Given the description of an element on the screen output the (x, y) to click on. 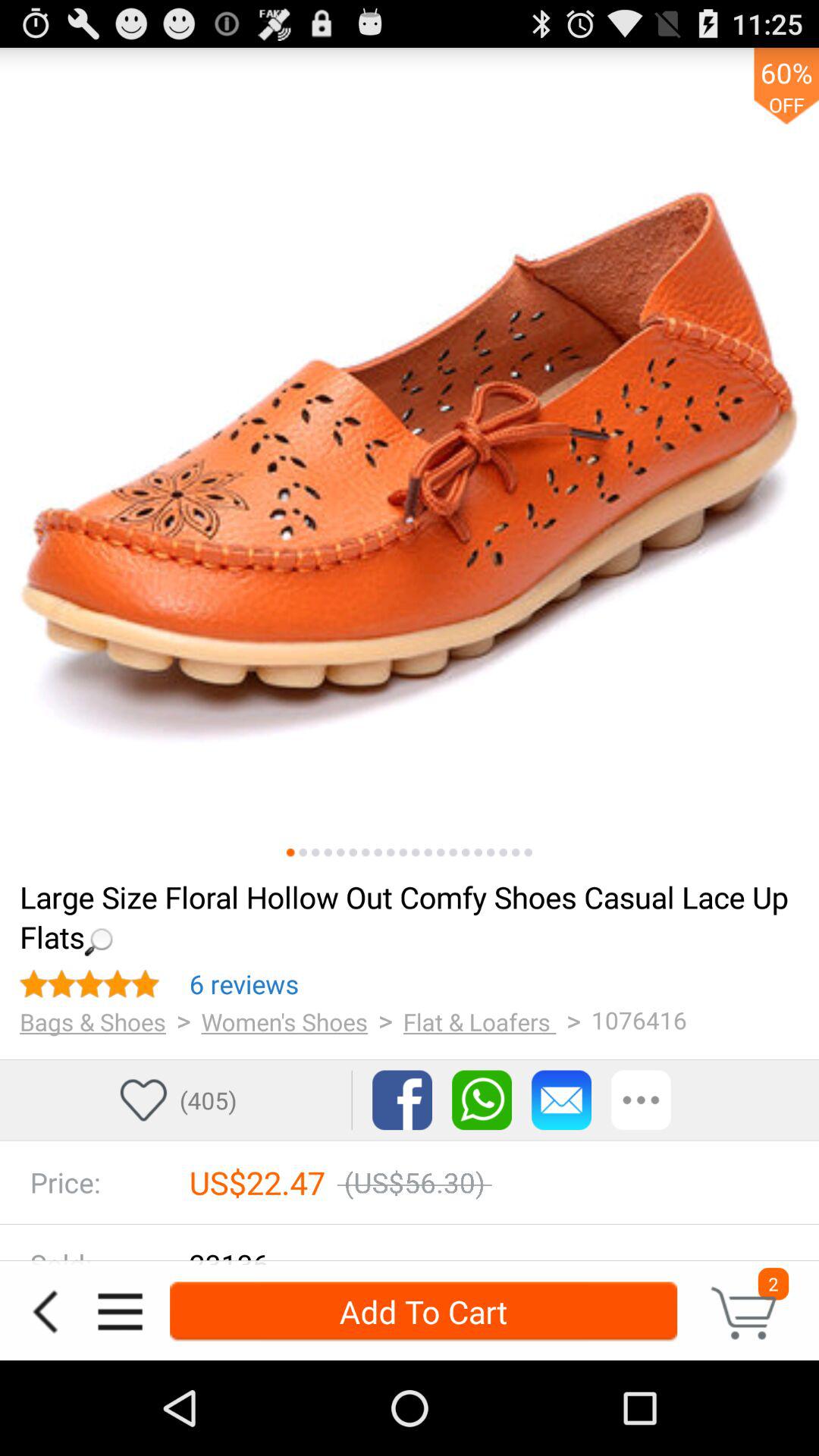
switch image view (390, 852)
